Given the description of an element on the screen output the (x, y) to click on. 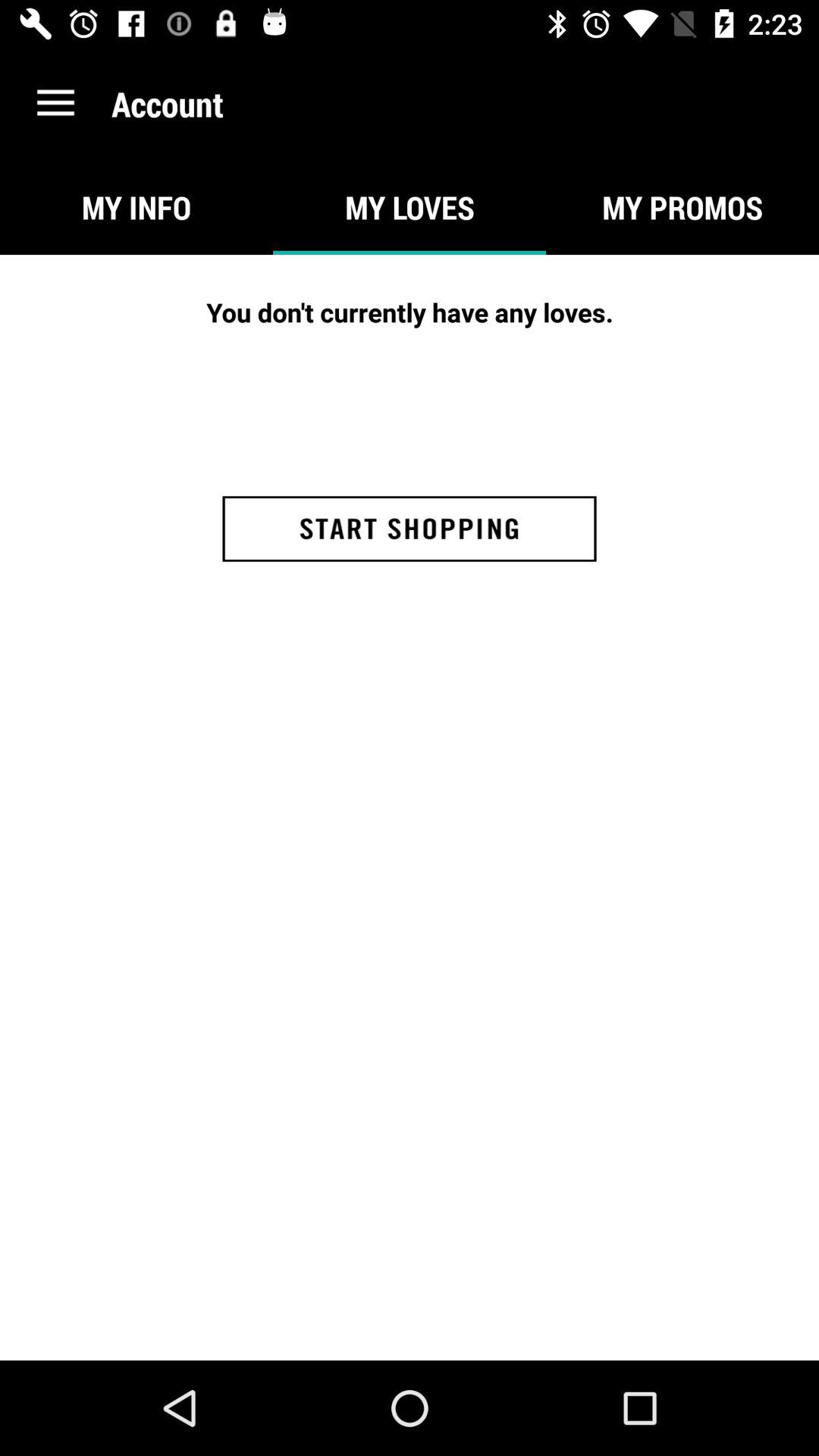
launch the item next to account item (55, 103)
